Given the description of an element on the screen output the (x, y) to click on. 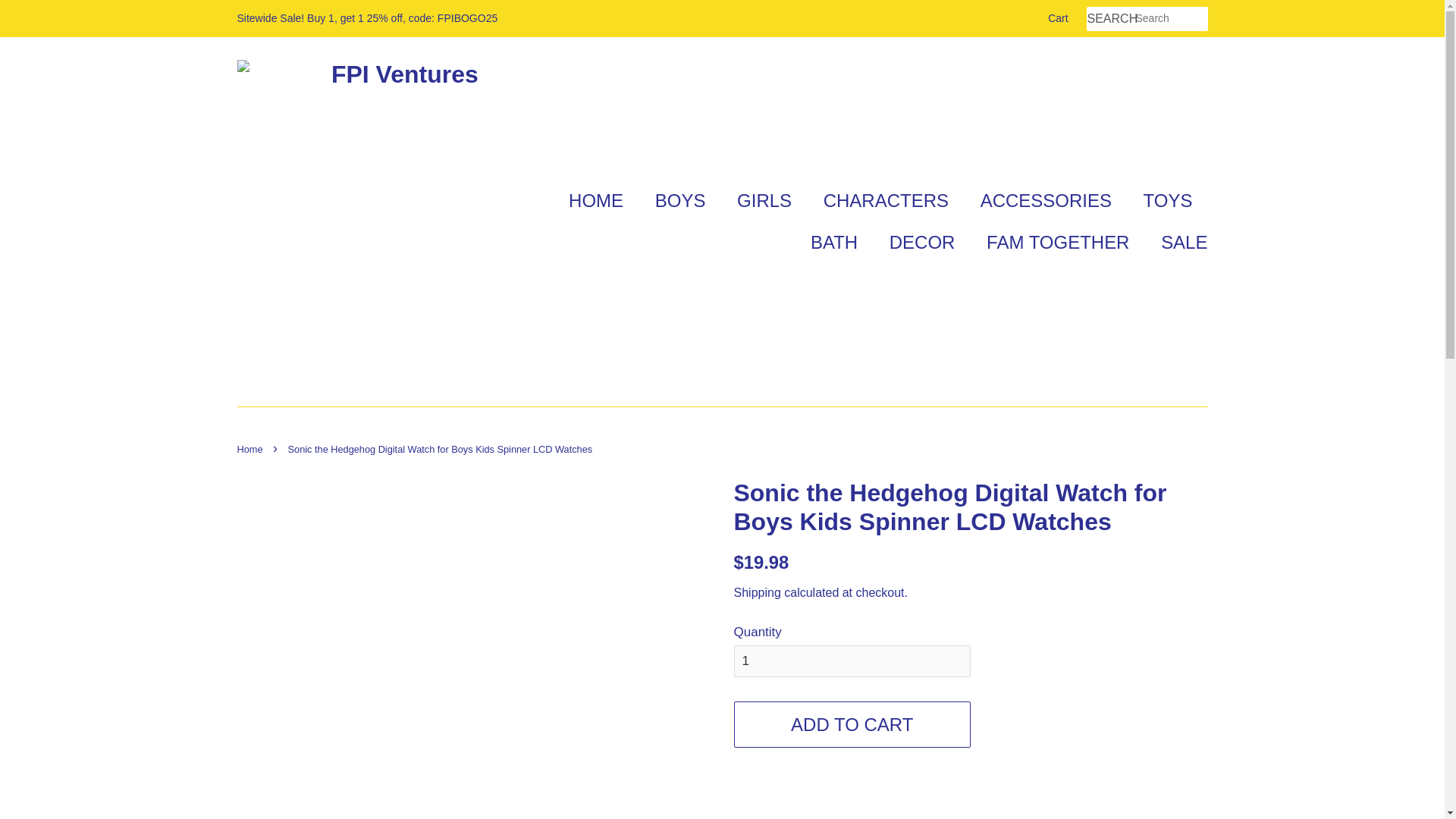
SEARCH (1110, 18)
Cart (1057, 18)
Back to the frontpage (250, 449)
1 (852, 661)
